Given the description of an element on the screen output the (x, y) to click on. 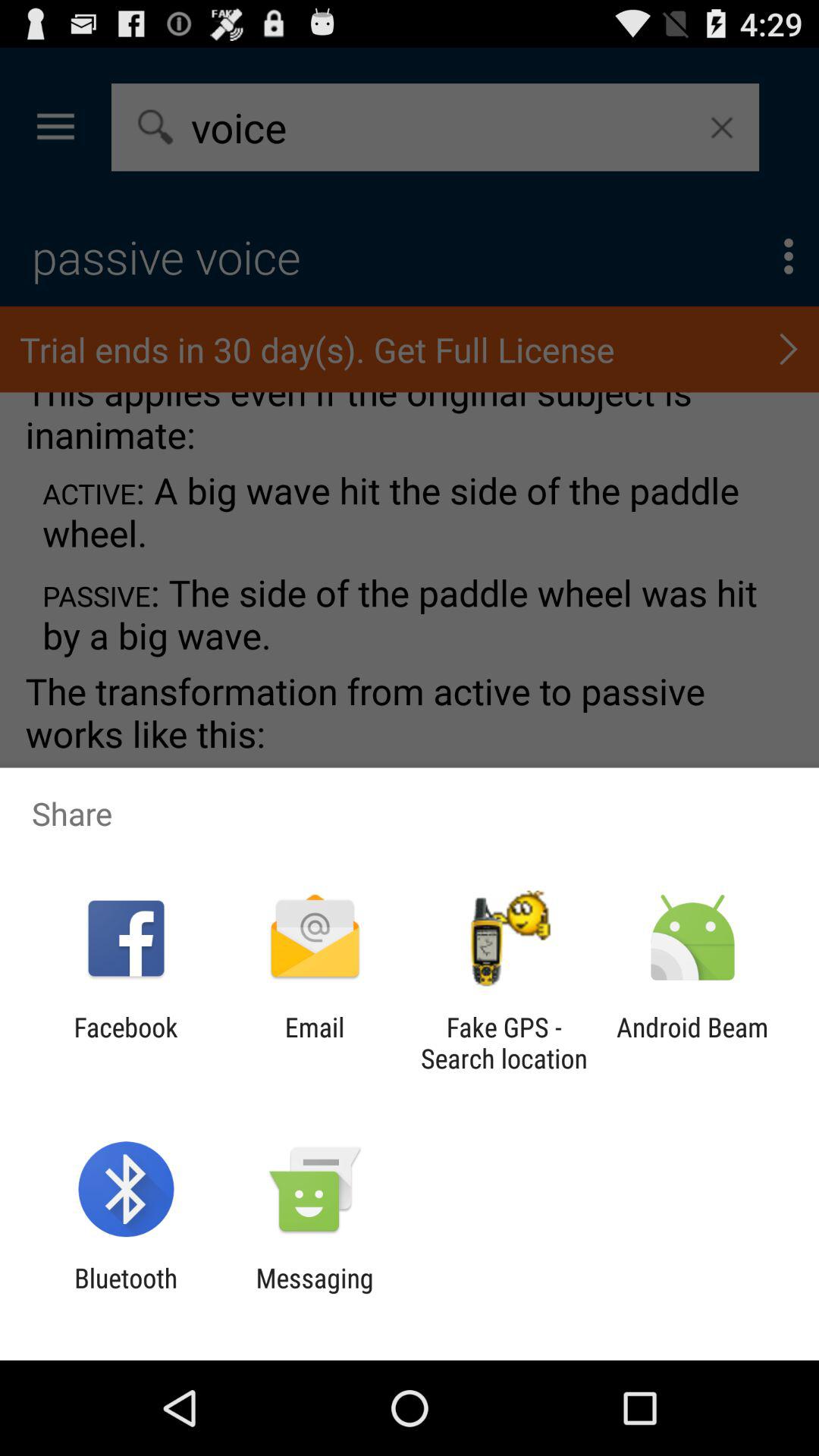
tap fake gps search icon (503, 1042)
